Given the description of an element on the screen output the (x, y) to click on. 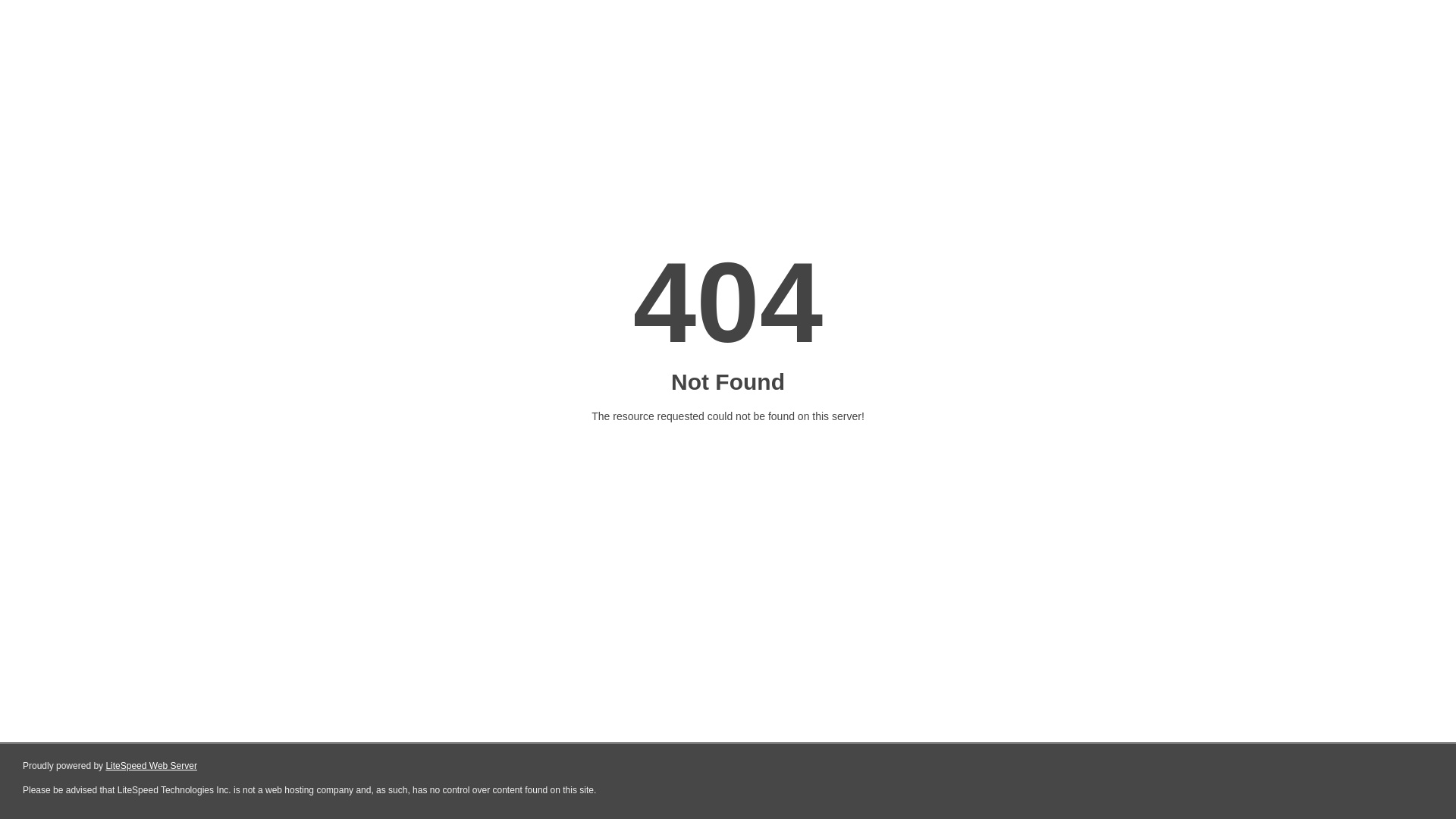
LiteSpeed Web Server Element type: text (151, 765)
